Given the description of an element on the screen output the (x, y) to click on. 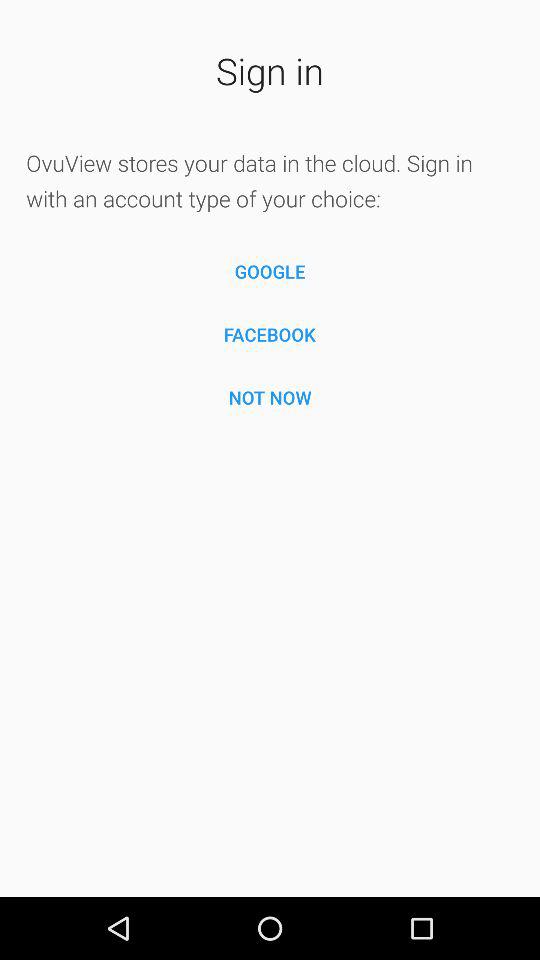
click the facebook (269, 334)
